Given the description of an element on the screen output the (x, y) to click on. 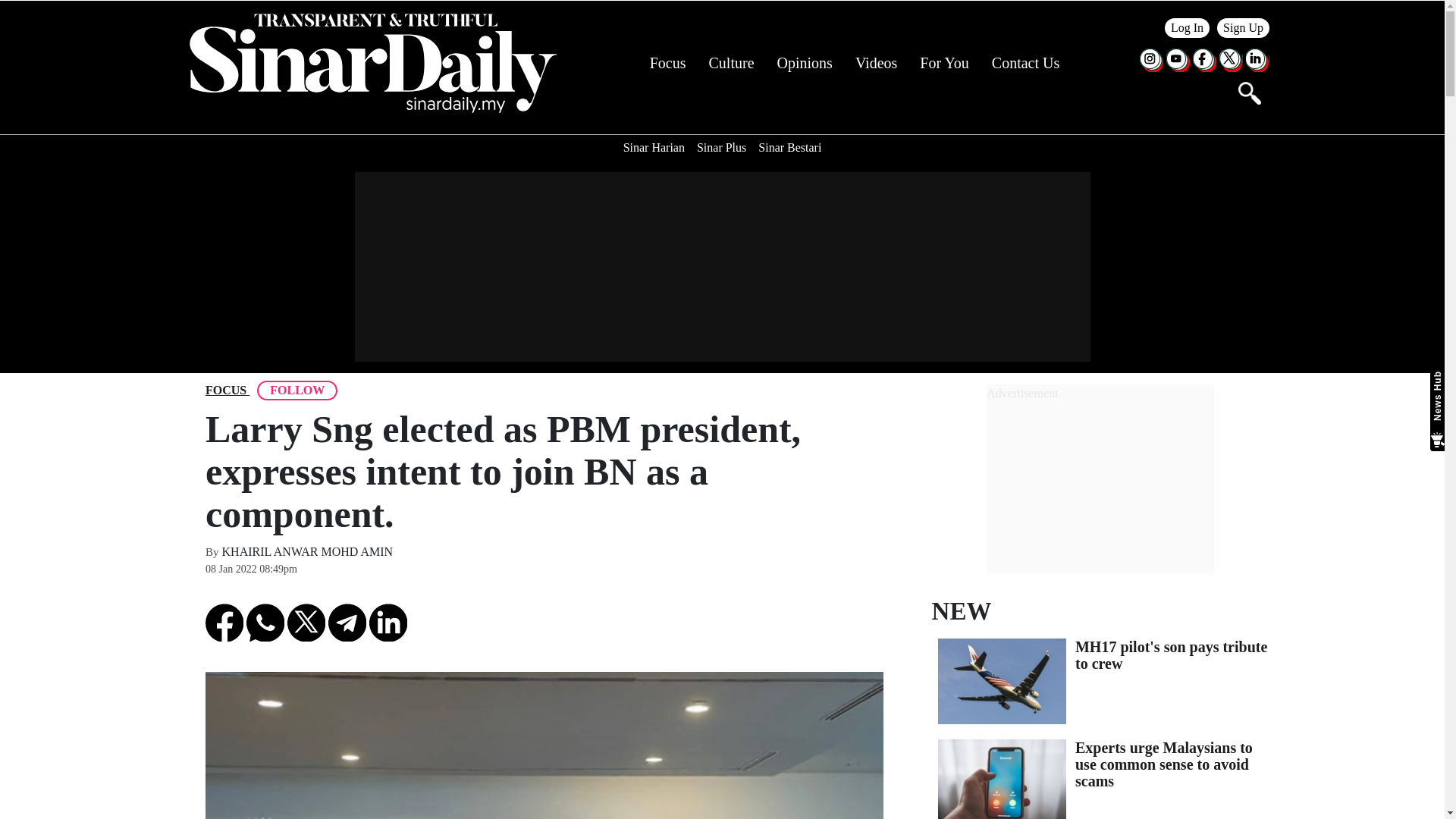
signup (1243, 27)
Sinar Daily (371, 63)
Contact Us (1025, 63)
Share Article on Whatsapp (264, 622)
Culture (731, 63)
Sinar Plus (721, 147)
Sinar Harian (653, 147)
Sign Up (1243, 27)
Opinions (804, 63)
Log In (1186, 27)
Sinar Bestari (789, 147)
Share on Telegram (347, 622)
Share on LinkedIn (388, 622)
Videos (876, 63)
For You (944, 63)
